Given the description of an element on the screen output the (x, y) to click on. 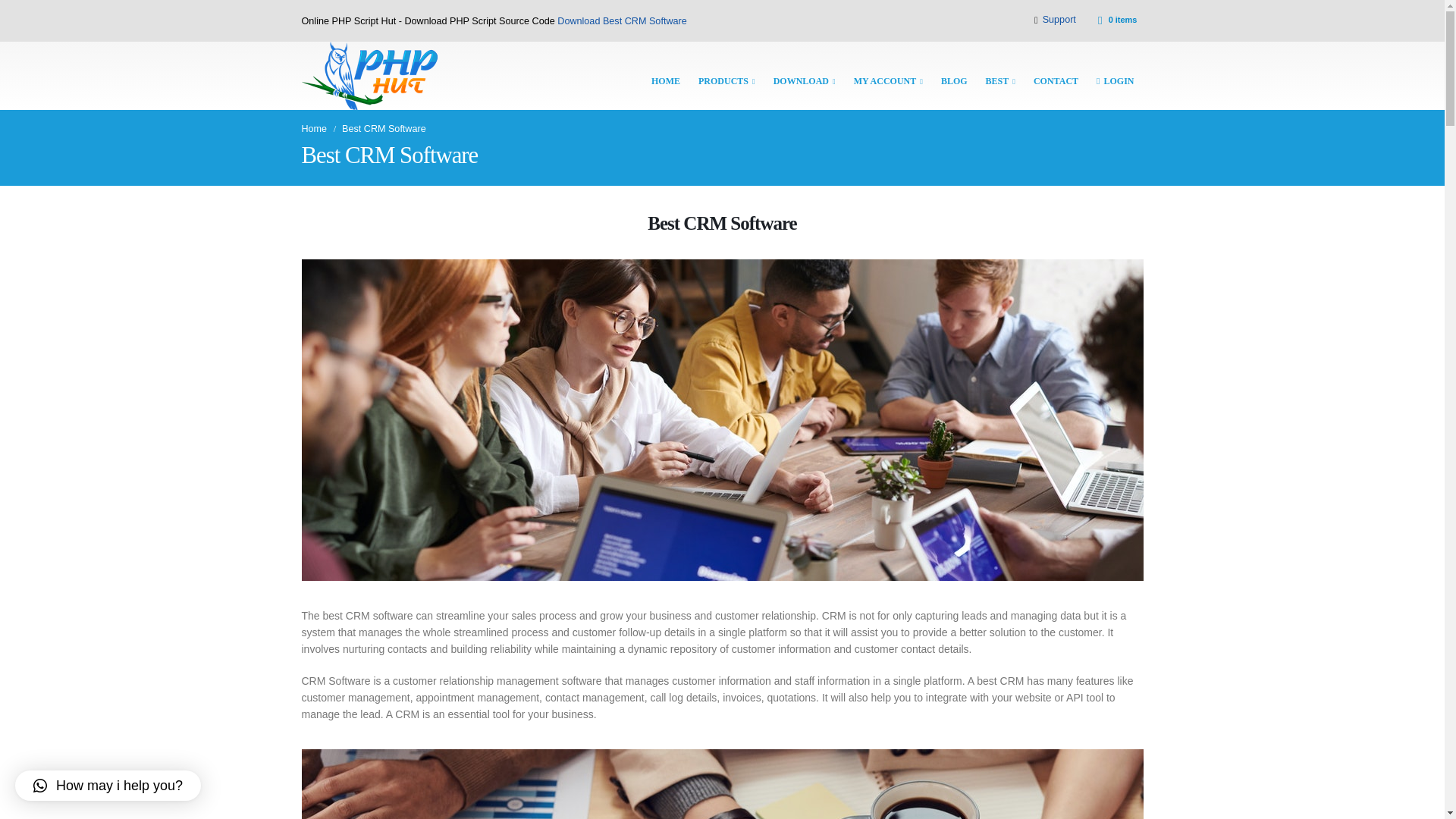
PRODUCTS (726, 76)
Support (1054, 19)
Download Best CRM Software (622, 20)
PHP Hut-  PHP Scripts Shop -  (369, 75)
